Given the description of an element on the screen output the (x, y) to click on. 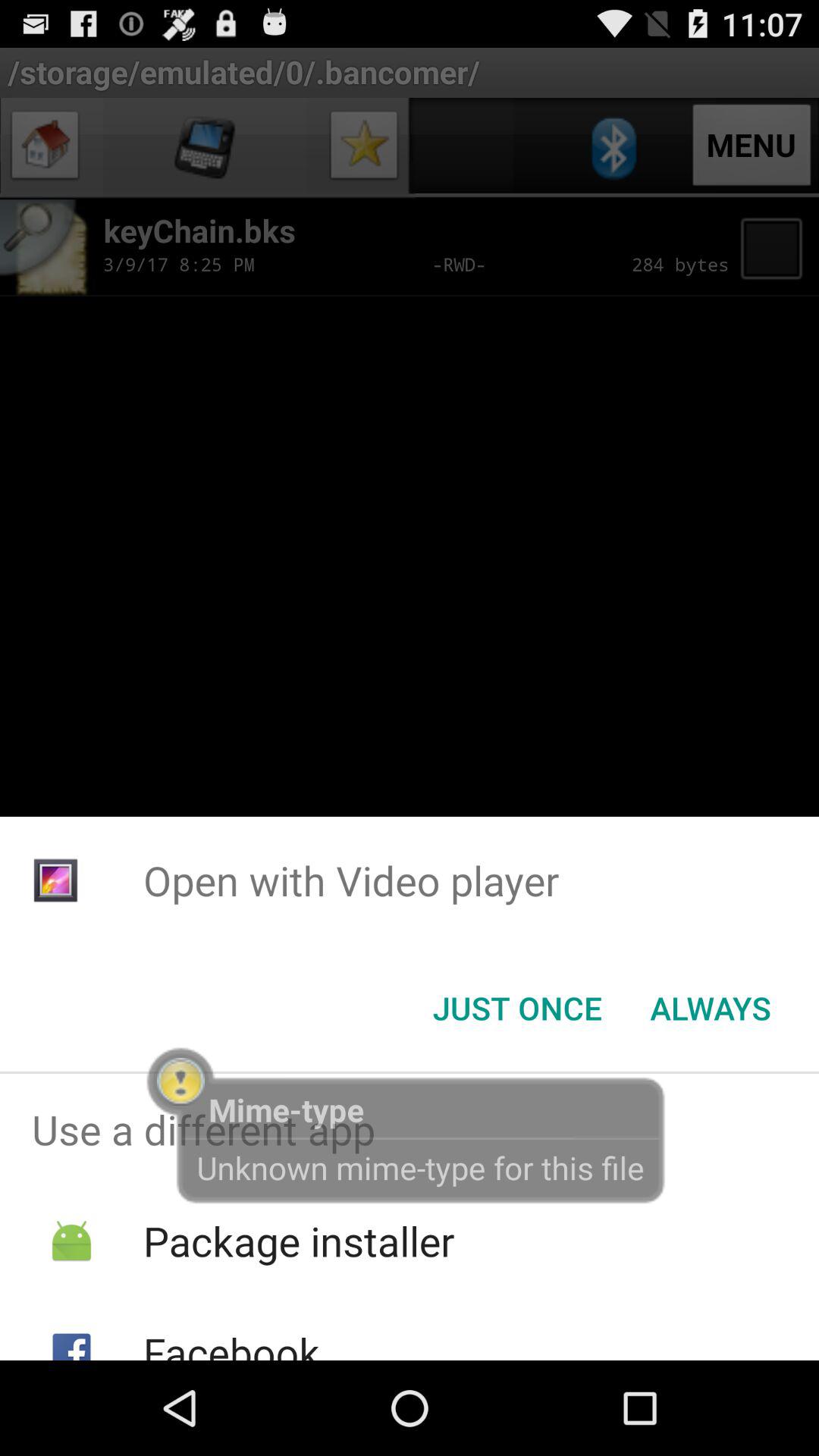
click facebook app (231, 1342)
